Given the description of an element on the screen output the (x, y) to click on. 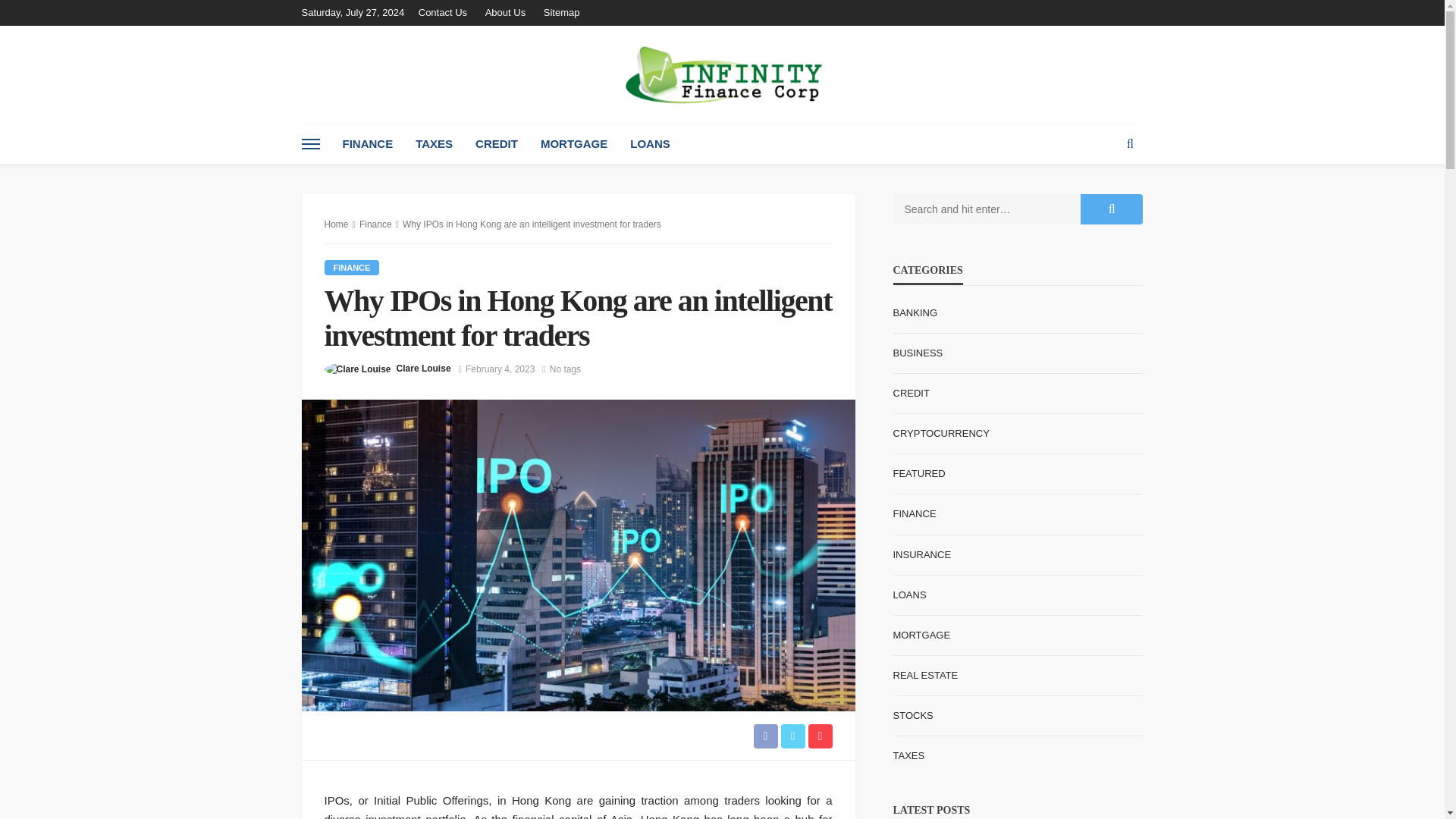
off canvas button (310, 143)
Finance (375, 224)
CREDIT (496, 143)
FINANCE (367, 143)
Search (1130, 143)
About Us (504, 12)
Sitemap (561, 12)
Clare Louise (423, 368)
Infinity Finance Corp (722, 74)
Home (336, 224)
Contact Us (446, 12)
FINANCE (352, 267)
TAXES (434, 143)
MORTGAGE (573, 143)
Finance (352, 267)
